Given the description of an element on the screen output the (x, y) to click on. 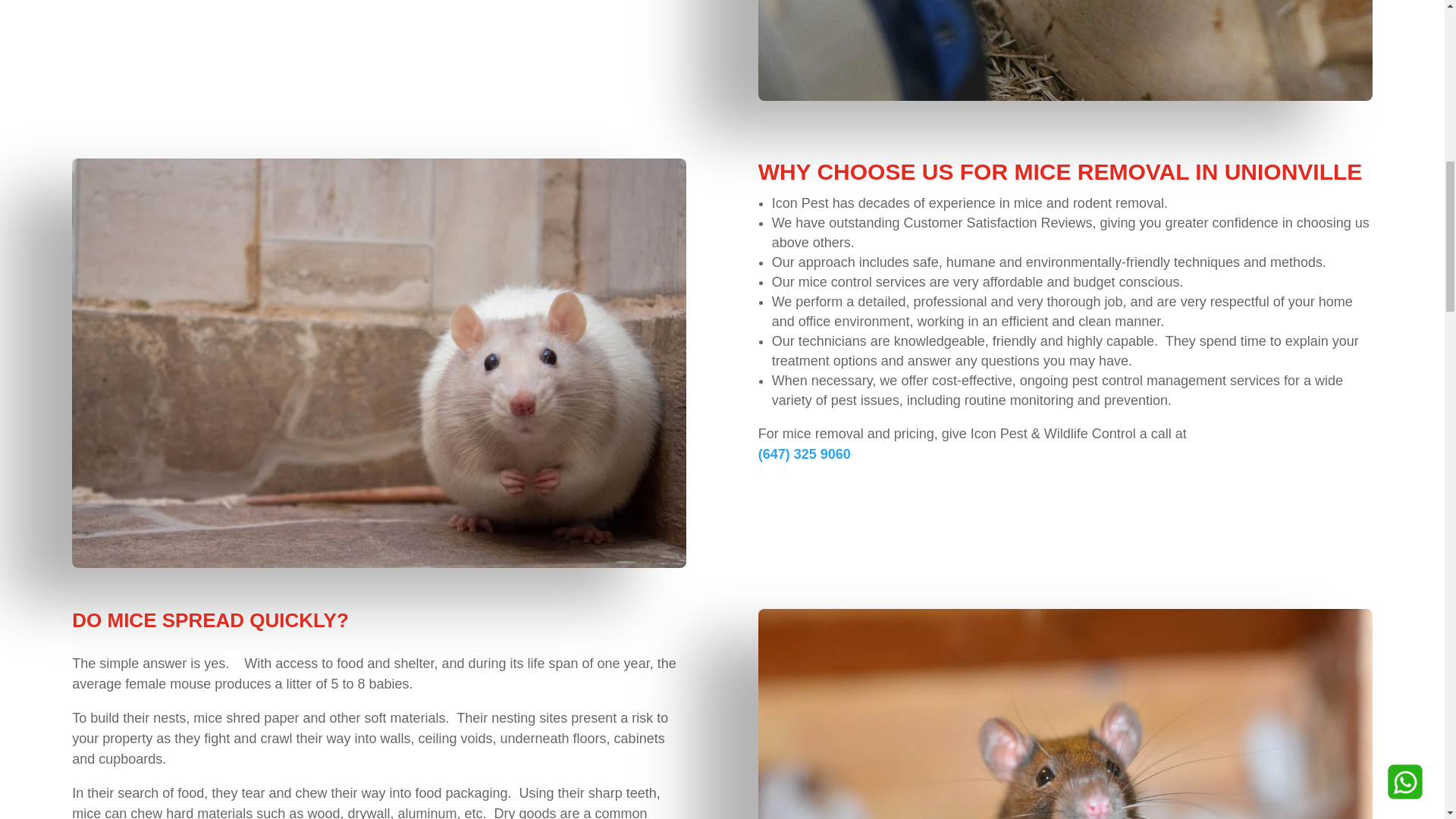
iStock-1077695574-min (1065, 50)
iStock-464839125-min (1065, 714)
